Given the description of an element on the screen output the (x, y) to click on. 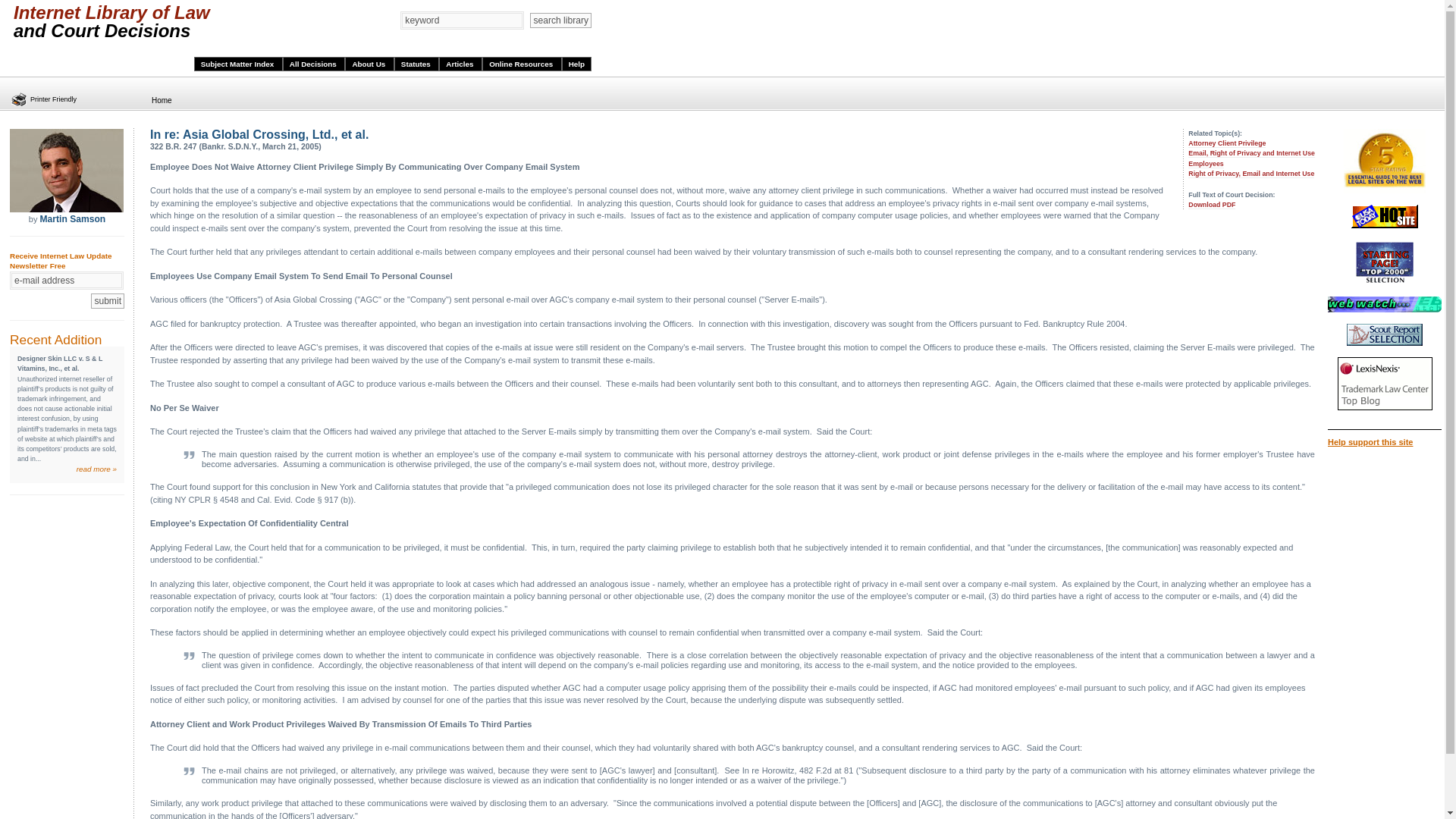
submit (106, 300)
Subject Matter Index (237, 63)
Attorney Client Privilege (1226, 143)
e-mail address (66, 280)
Martin Samson (71, 218)
All Decisions (314, 63)
keyword (462, 20)
Download PDF (1211, 204)
Home (161, 100)
Help support this site (1369, 441)
Right of Privacy, Email and Internet Use (1251, 173)
Help (576, 63)
search library (560, 20)
Online Resources (521, 63)
Employees (1205, 163)
